Given the description of an element on the screen output the (x, y) to click on. 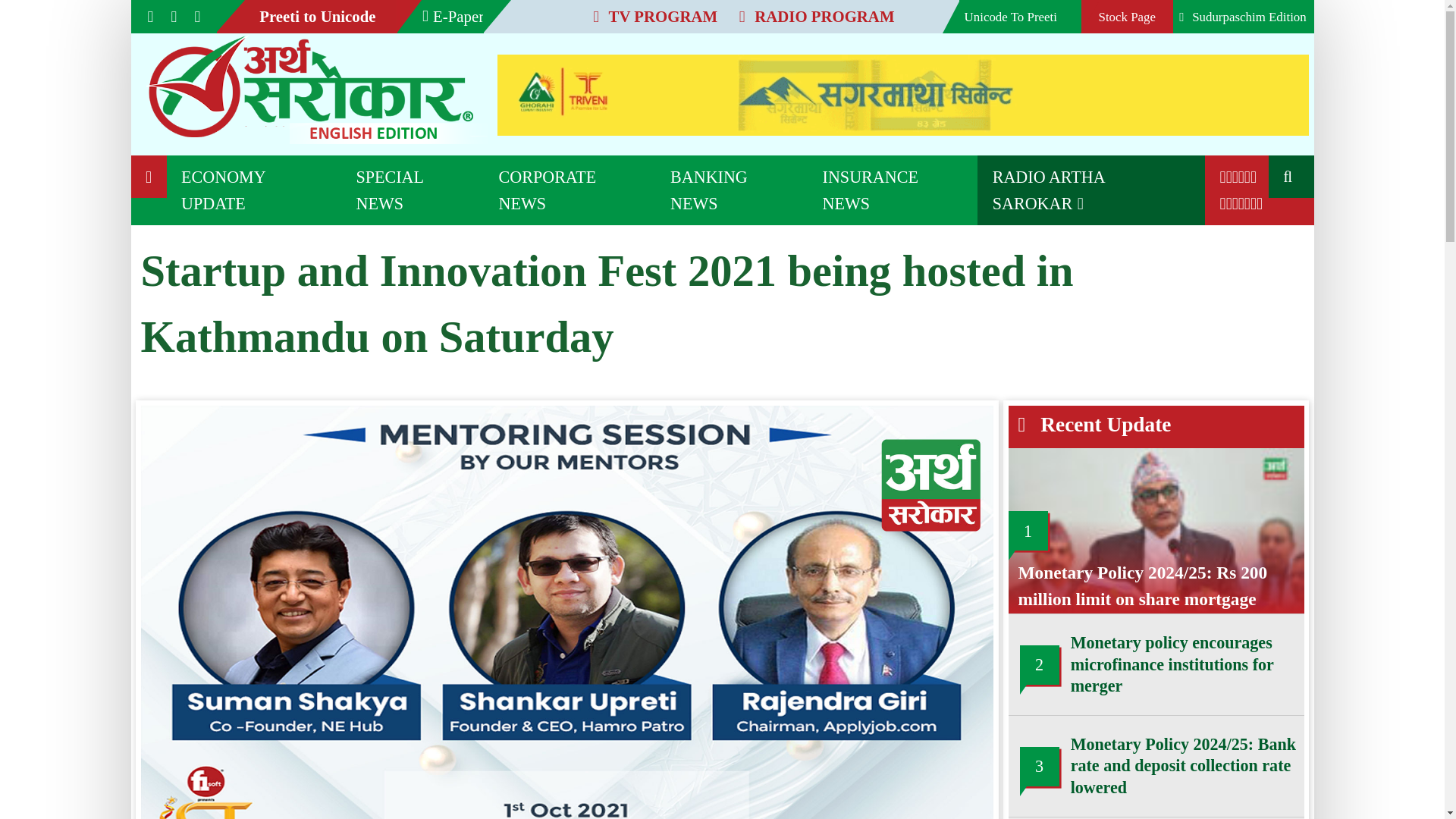
RADIO PROGRAM (626, 12)
BANKING NEWS (562, 145)
Sudurpaschim Edition (958, 12)
Recent Update (845, 326)
TV PROGRAM (501, 12)
Stock Page (865, 12)
SPECIAL NEWS (317, 145)
Preeti to Unicode (243, 12)
CORPORATE NEWS (437, 145)
ECONOMY UPDATE (195, 145)
INSURANCE NEWS (686, 145)
E-Paper (347, 12)
Unicode To Preeti (782, 12)
